Given the description of an element on the screen output the (x, y) to click on. 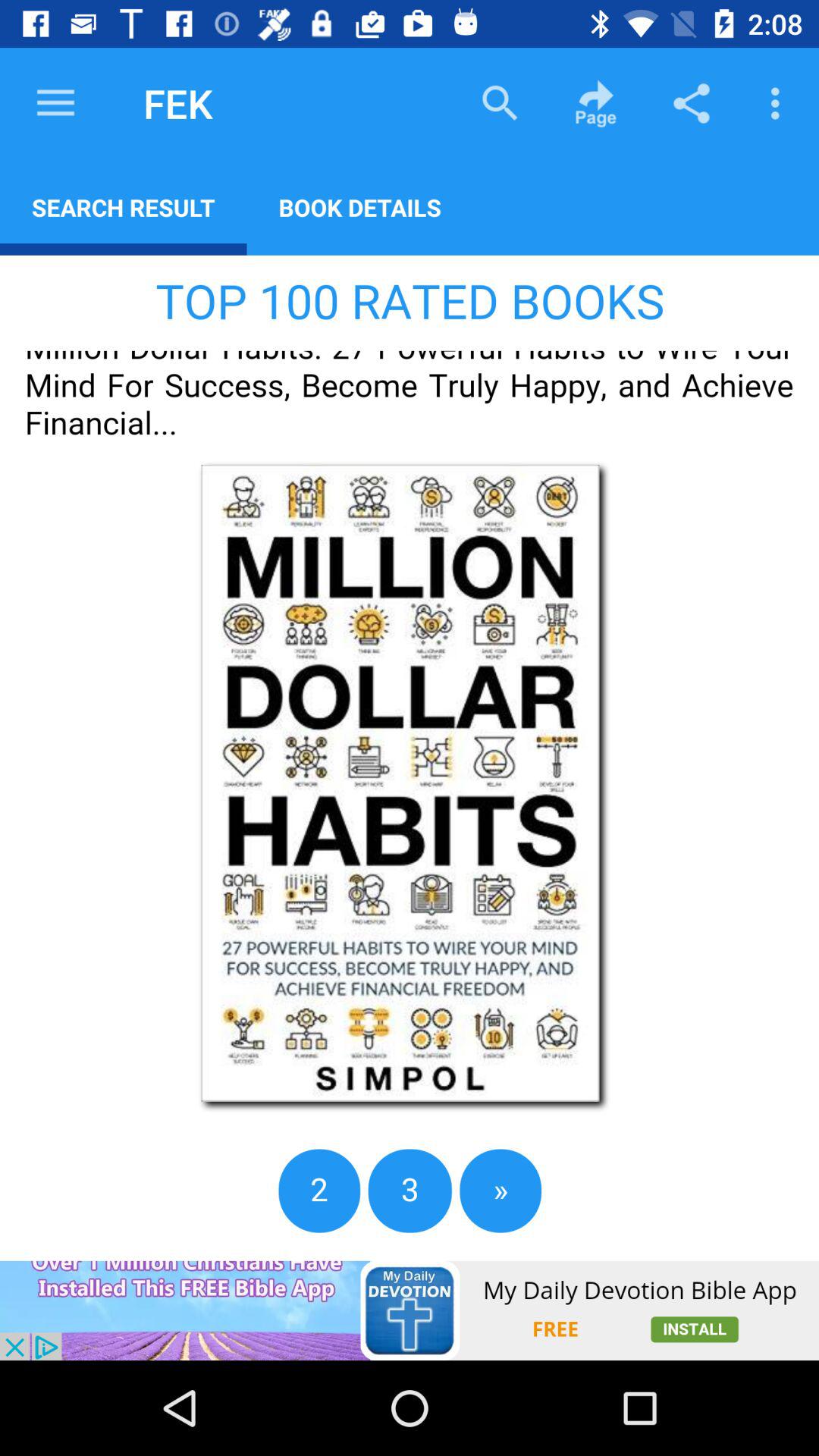
view rated books (409, 757)
